Given the description of an element on the screen output the (x, y) to click on. 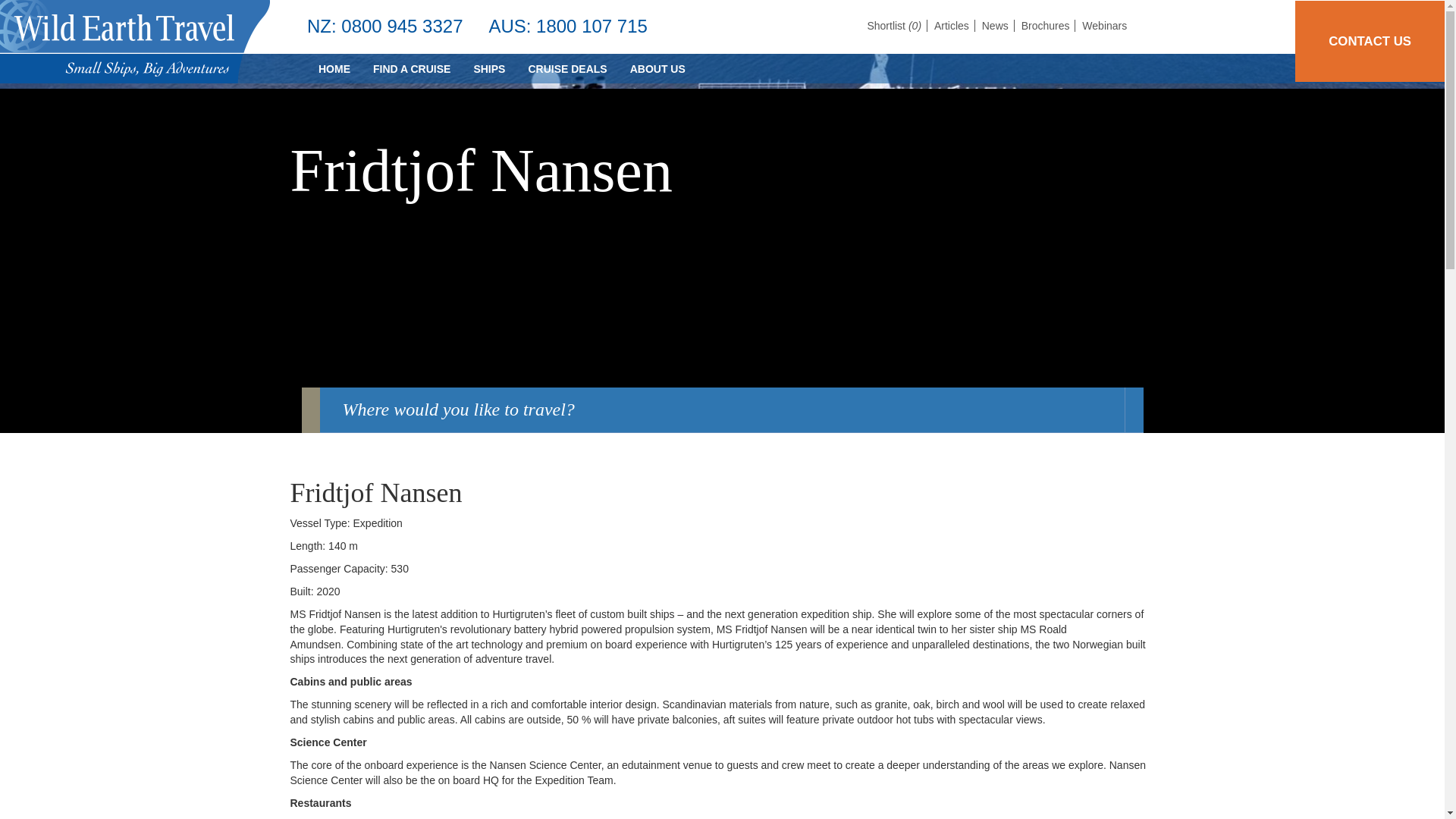
0800 945 3327 (401, 25)
News (997, 25)
1800 107 715 (591, 25)
Articles (954, 25)
Webinars (1103, 25)
Wild Earth Travel Logo (134, 41)
Brochures (1048, 25)
